Given the description of an element on the screen output the (x, y) to click on. 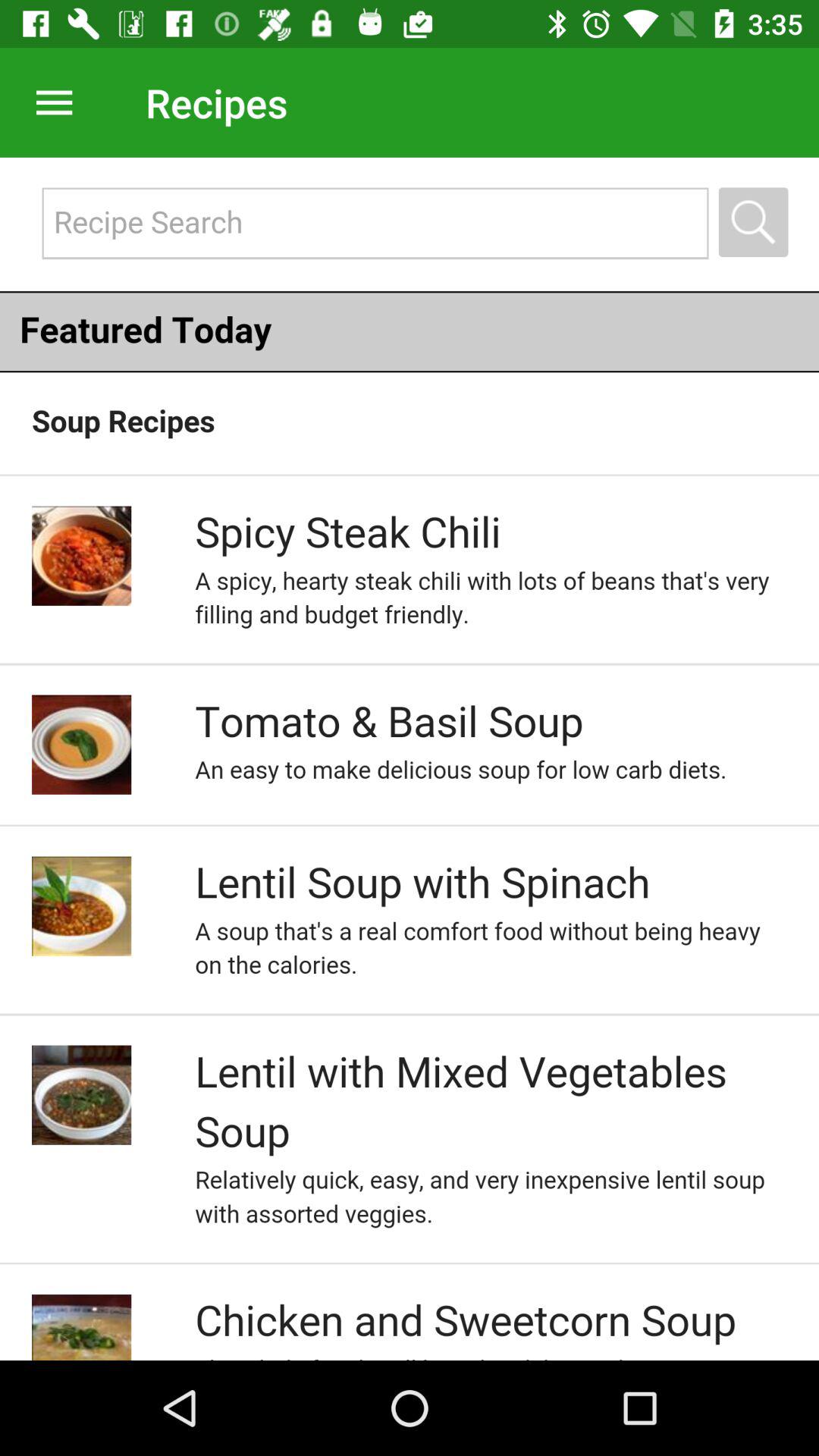
open hamburger menu (48, 102)
